Given the description of an element on the screen output the (x, y) to click on. 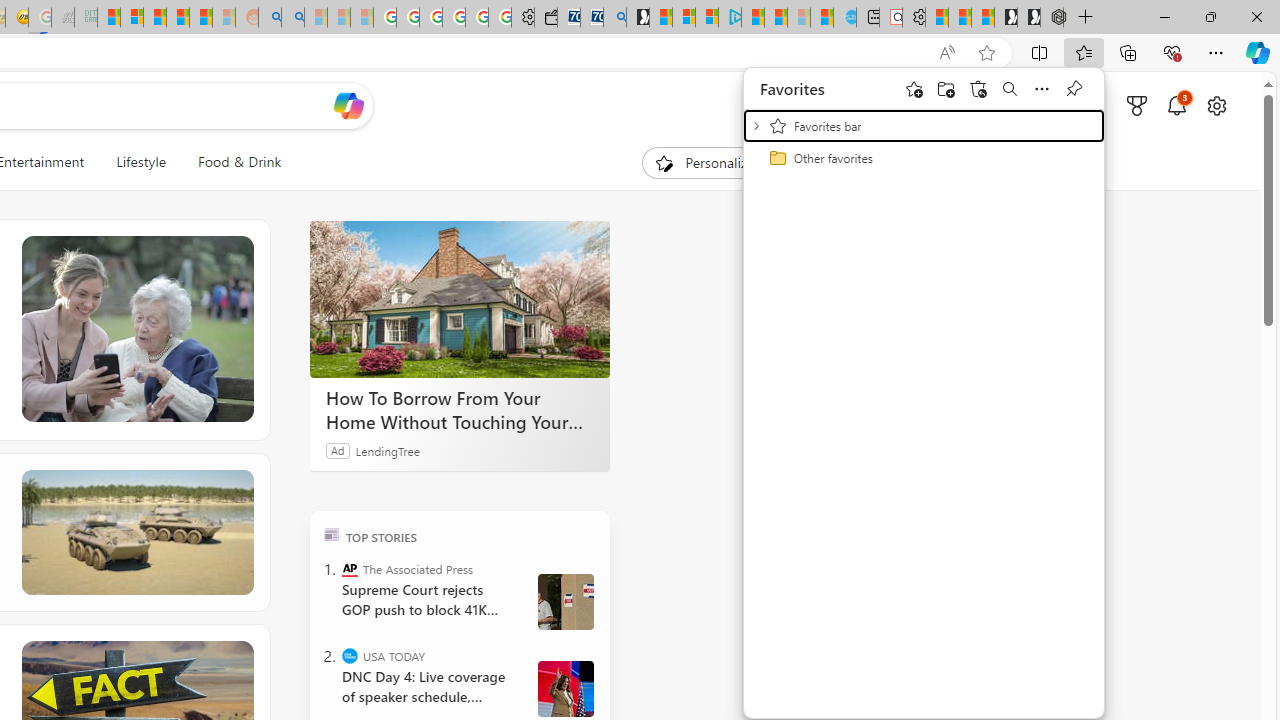
Add folder (945, 88)
Student Loan Update: Forgiveness Program Ends This Month (200, 17)
